Given the description of an element on the screen output the (x, y) to click on. 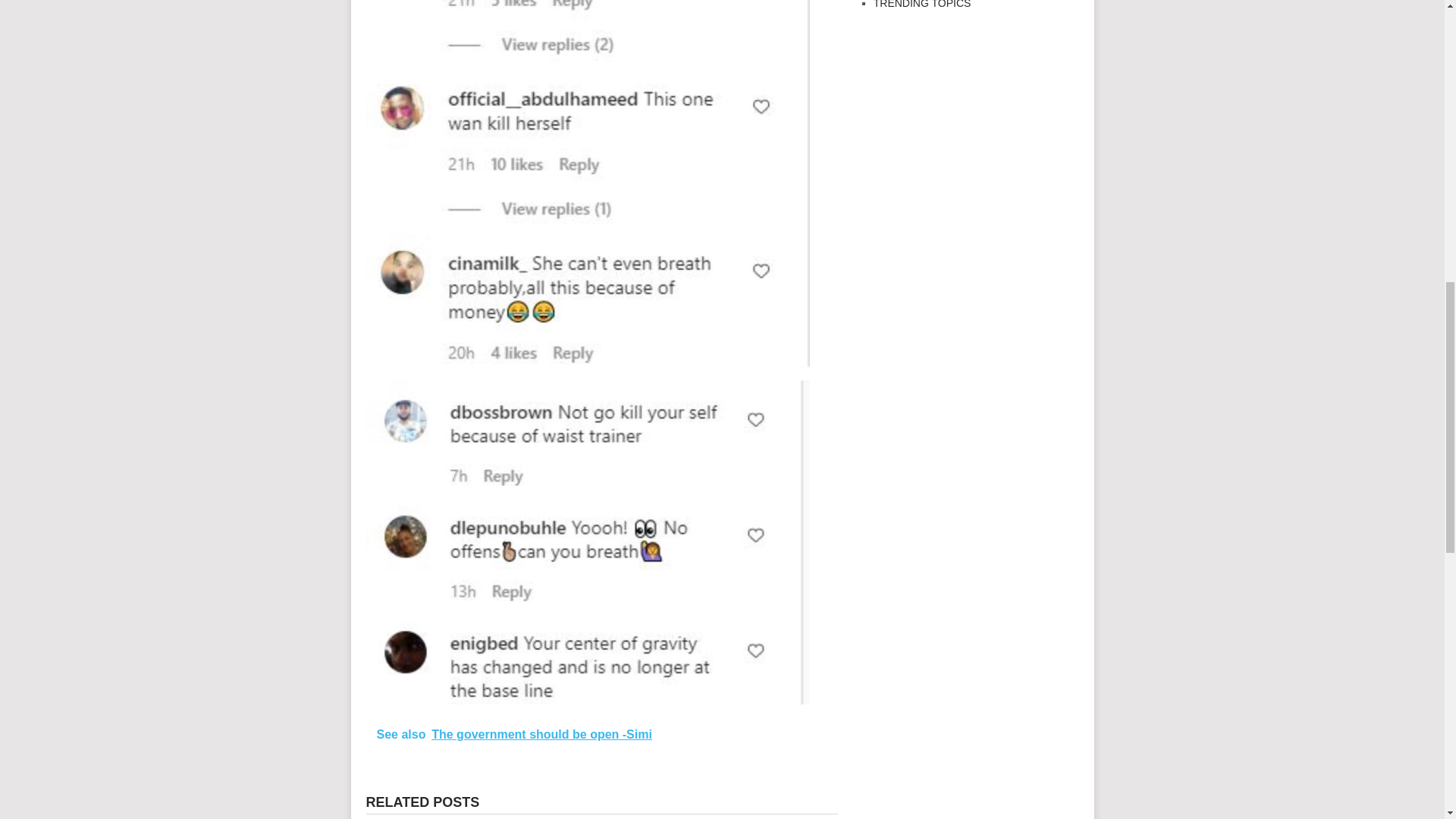
See also  The government should be open -Simi (601, 734)
